Given the description of an element on the screen output the (x, y) to click on. 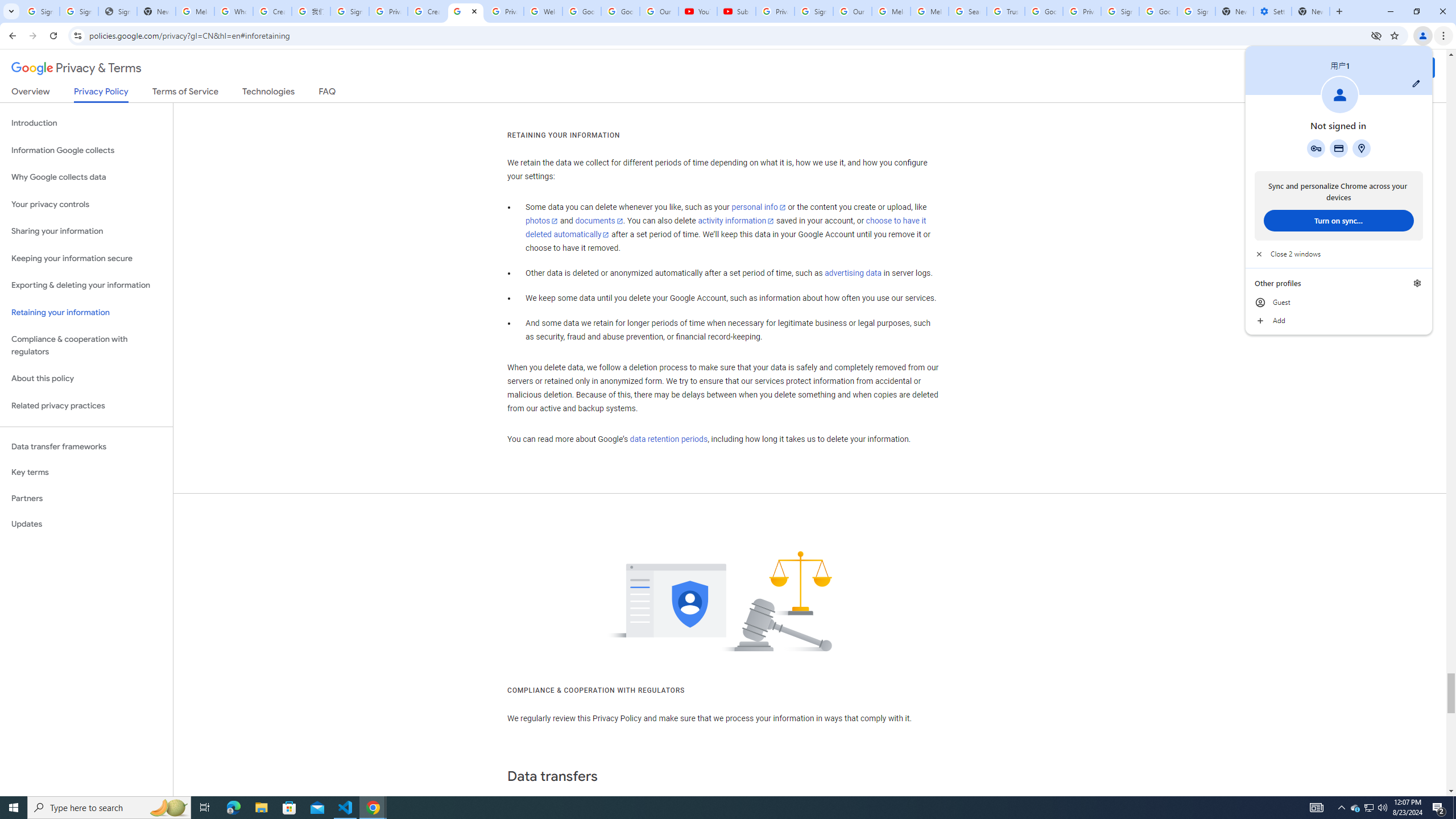
Create your Google Account (272, 11)
Sign in - Google Accounts (1120, 11)
Google Password Manager (1315, 148)
data retention periods (667, 439)
Sharing your information (86, 230)
File Explorer (261, 807)
documents (599, 221)
Keeping your information secure (86, 258)
choose to have it deleted automatically (725, 227)
